Given the description of an element on the screen output the (x, y) to click on. 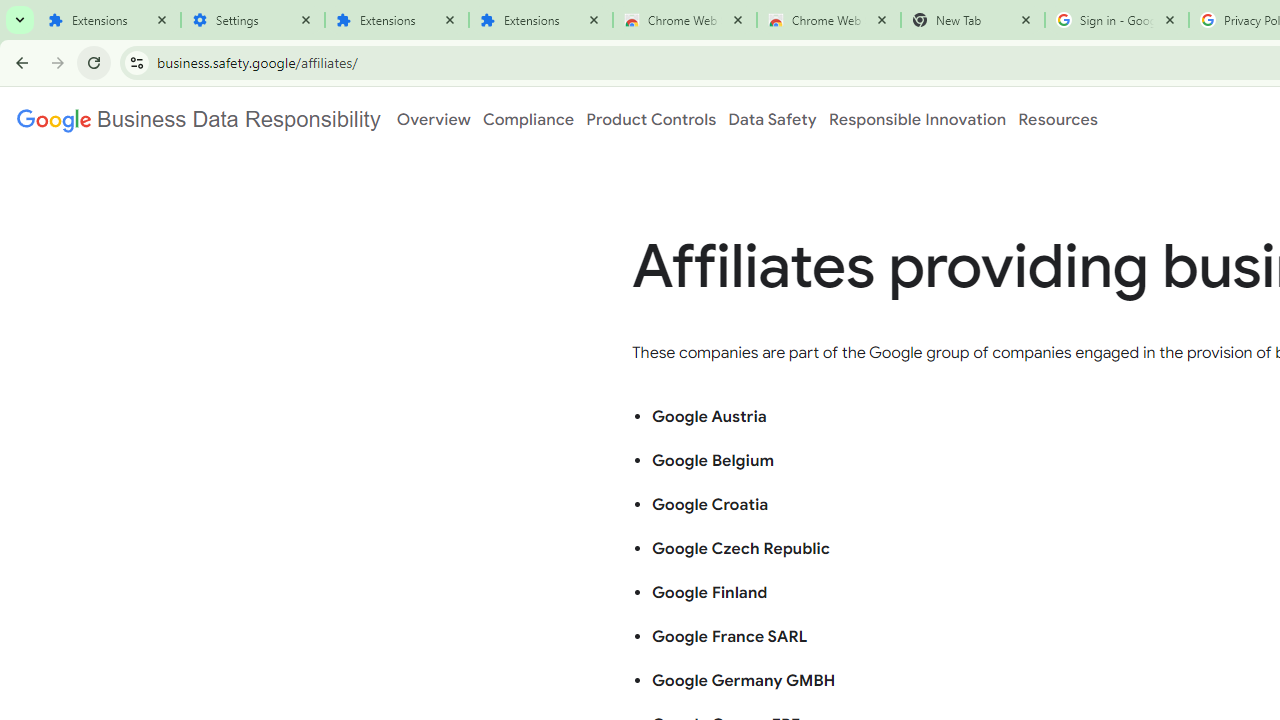
Responsible Innovation (916, 119)
Chrome Web Store - Themes (828, 20)
Settings (252, 20)
Overview (433, 119)
Extensions (540, 20)
Google logo (198, 119)
New Tab (972, 20)
Data Safety (772, 119)
Product Controls (651, 119)
Extensions (108, 20)
Chrome Web Store (684, 20)
